Given the description of an element on the screen output the (x, y) to click on. 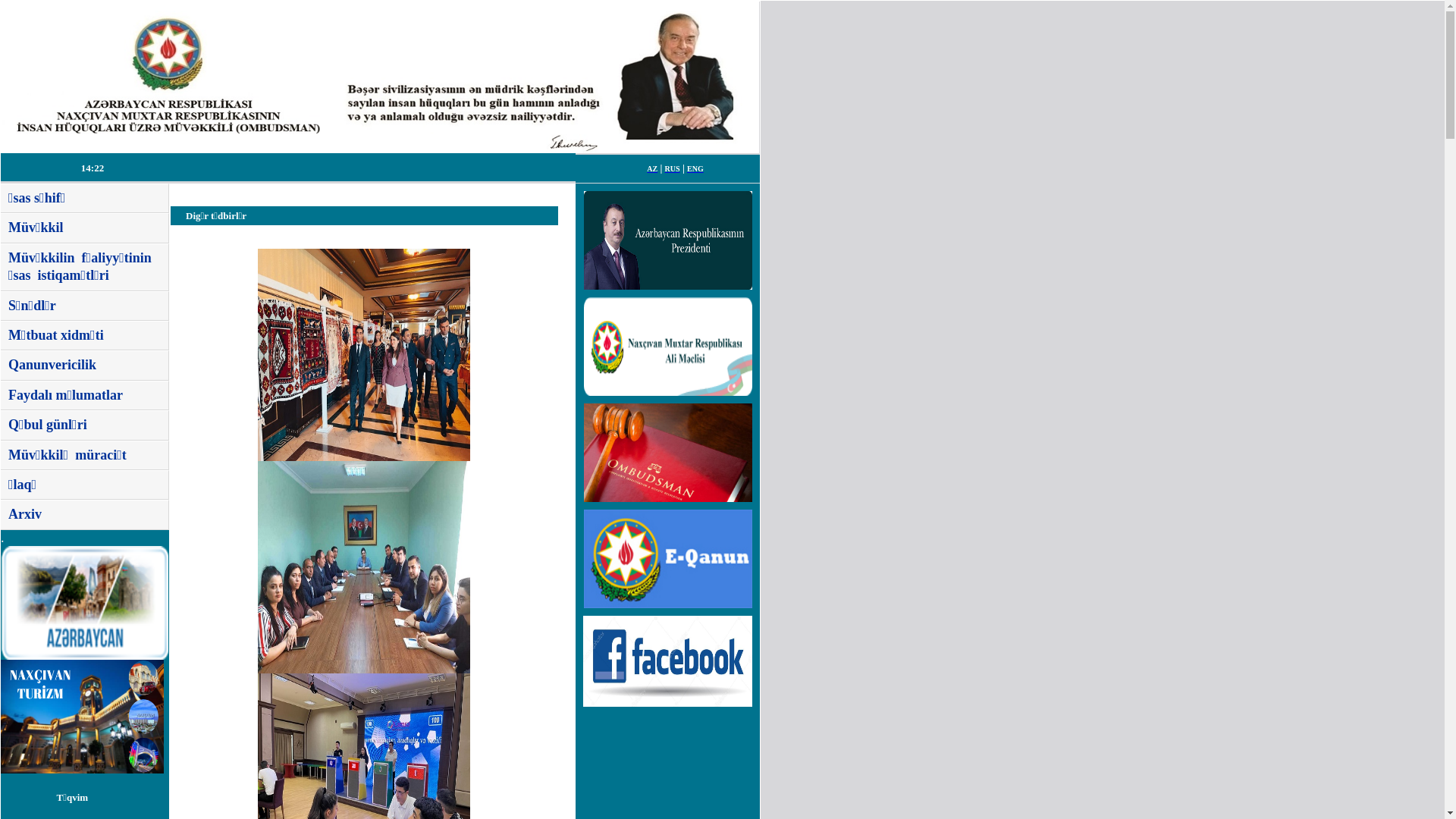
RUS Element type: text (672, 167)
Arxiv Element type: text (24, 513)
AZ Element type: text (651, 167)
Qanunvericilik Element type: text (52, 364)
ENG Element type: text (695, 167)
